Given the description of an element on the screen output the (x, y) to click on. 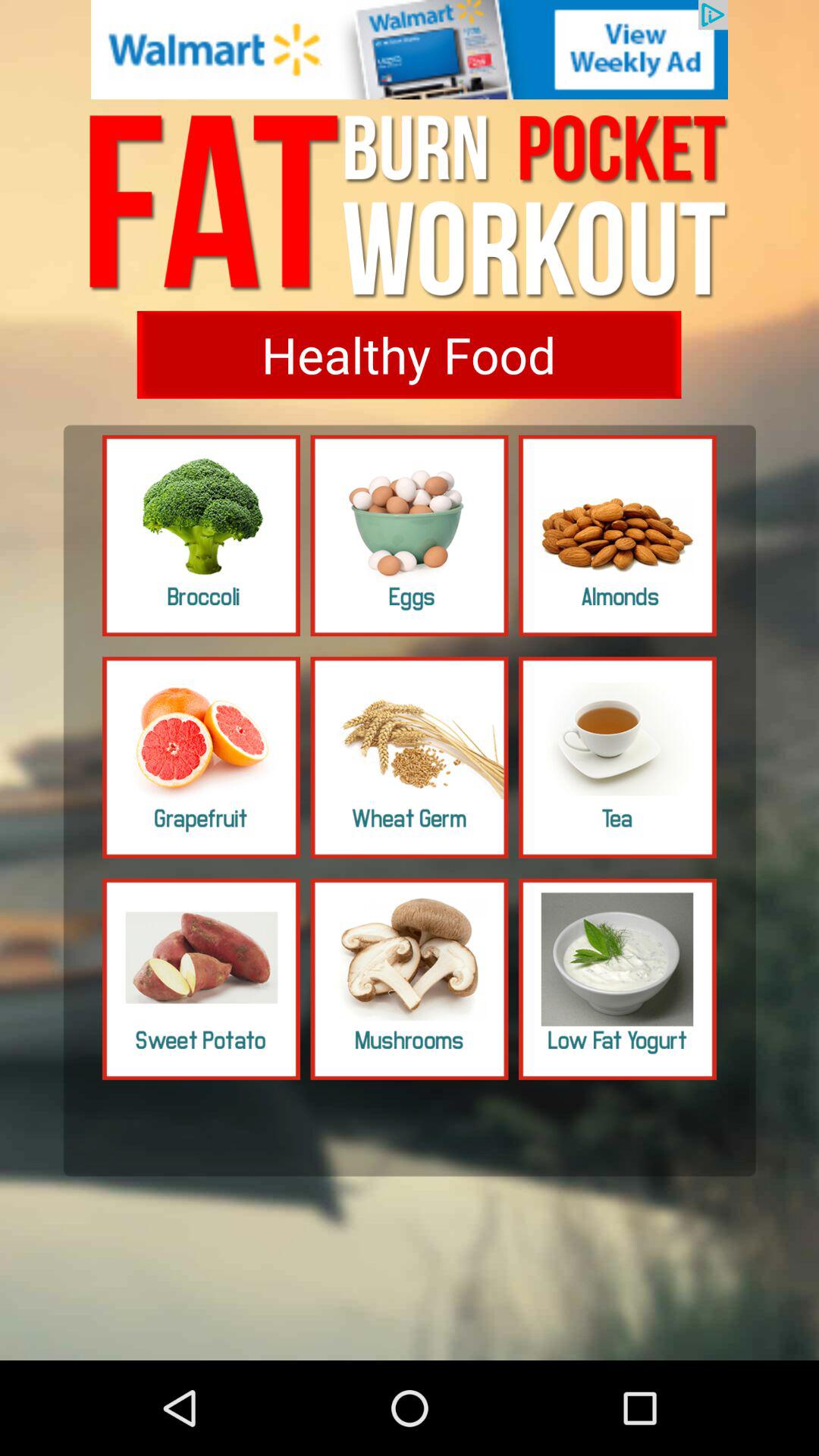
select the image having the text mushrooms (409, 979)
